Given the description of an element on the screen output the (x, y) to click on. 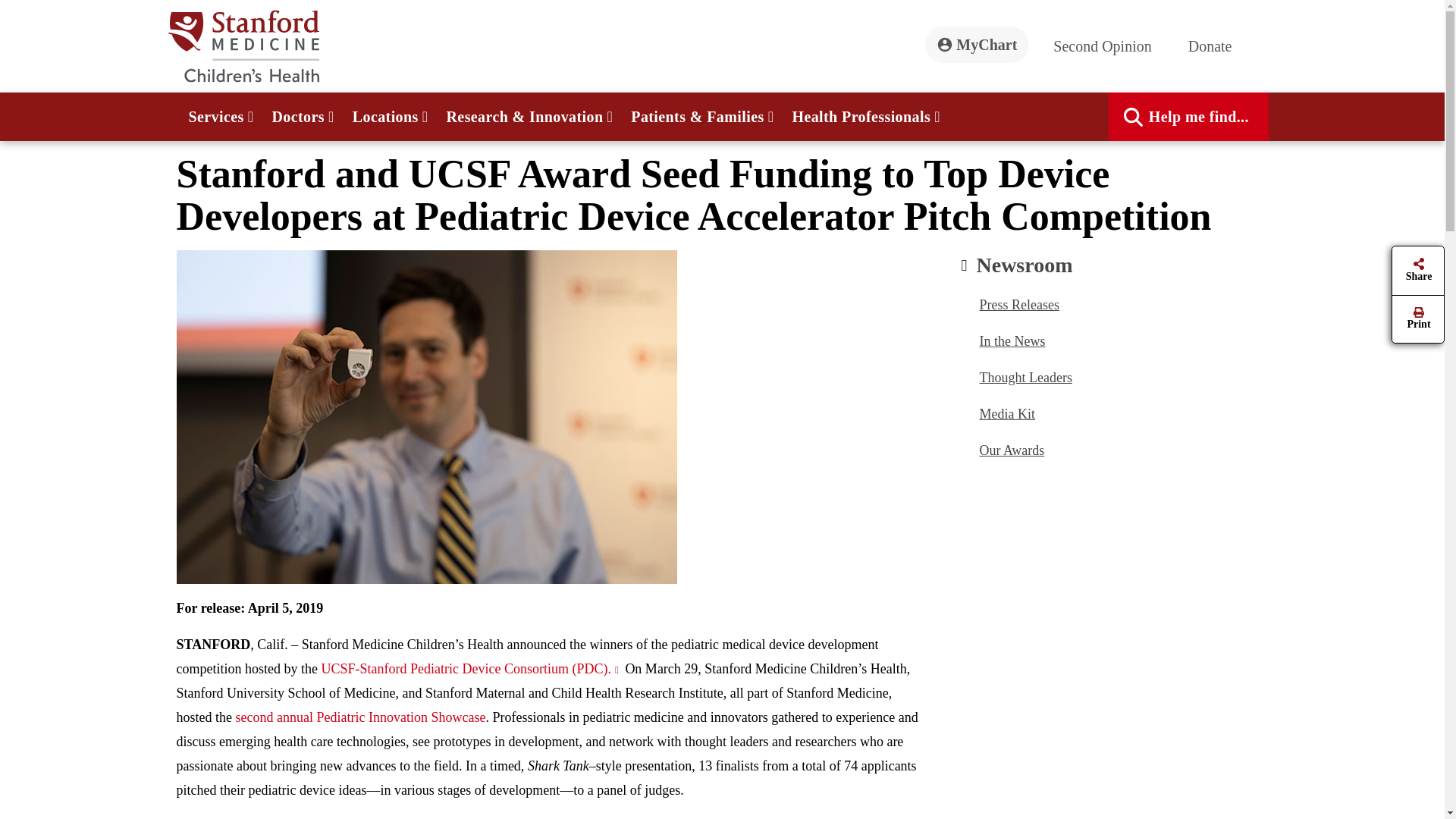
Donate (1216, 46)
MyChart (976, 44)
Second Opinion (1107, 46)
